Given the description of an element on the screen output the (x, y) to click on. 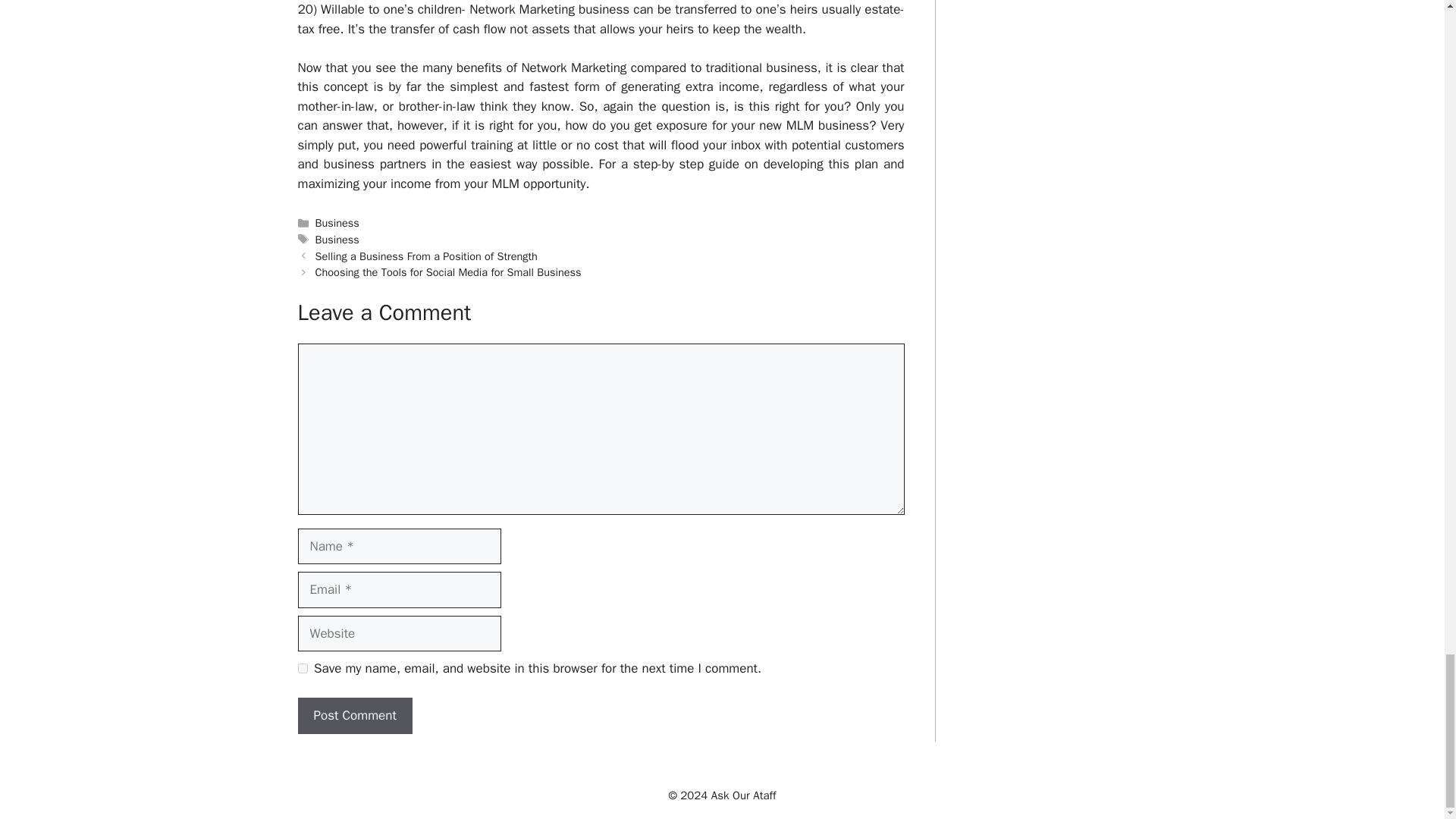
Choosing the Tools for Social Media for Small Business (447, 272)
Business (337, 239)
Business (337, 223)
yes (302, 668)
Post Comment (354, 715)
Selling a Business From a Position of Strength (426, 255)
Post Comment (354, 715)
